Given the description of an element on the screen output the (x, y) to click on. 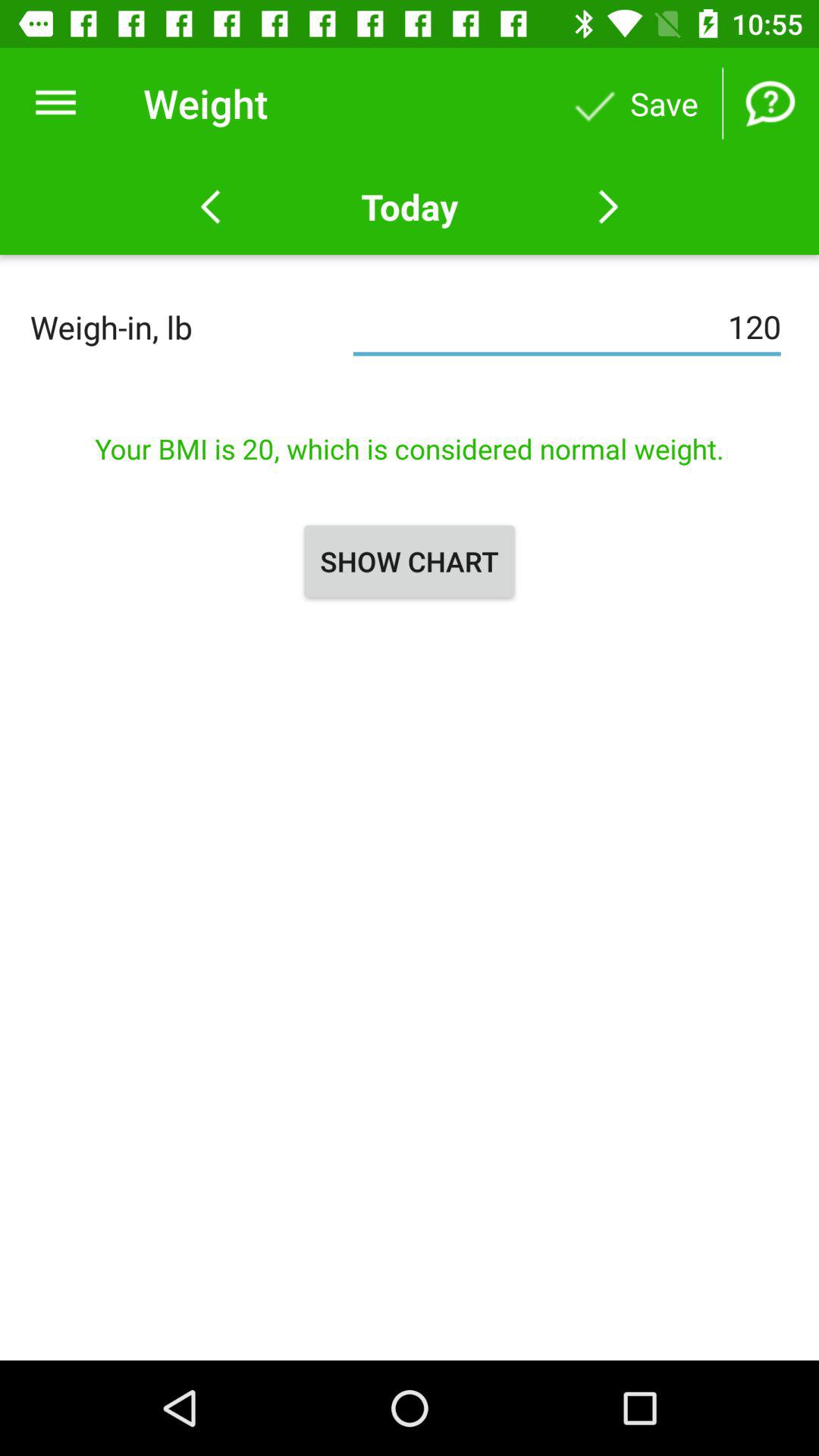
open the item below today (566, 326)
